Given the description of an element on the screen output the (x, y) to click on. 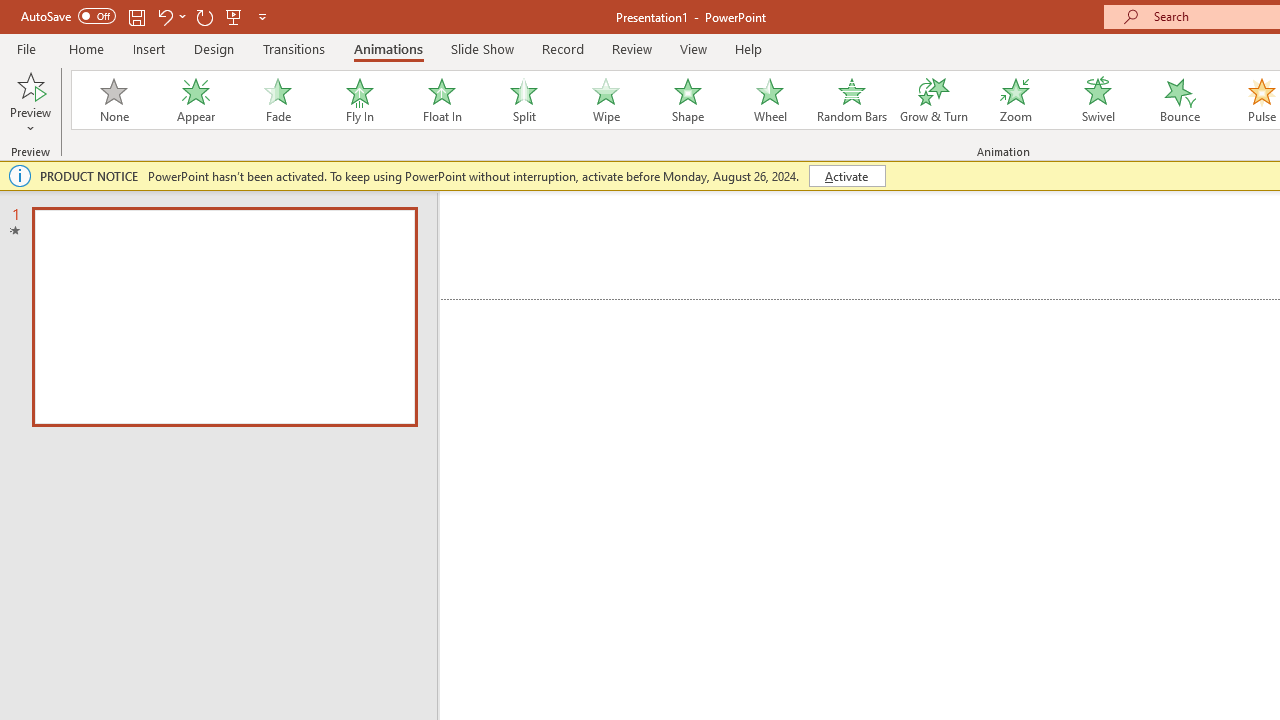
Preview (30, 84)
Appear (195, 100)
Split (523, 100)
